Given the description of an element on the screen output the (x, y) to click on. 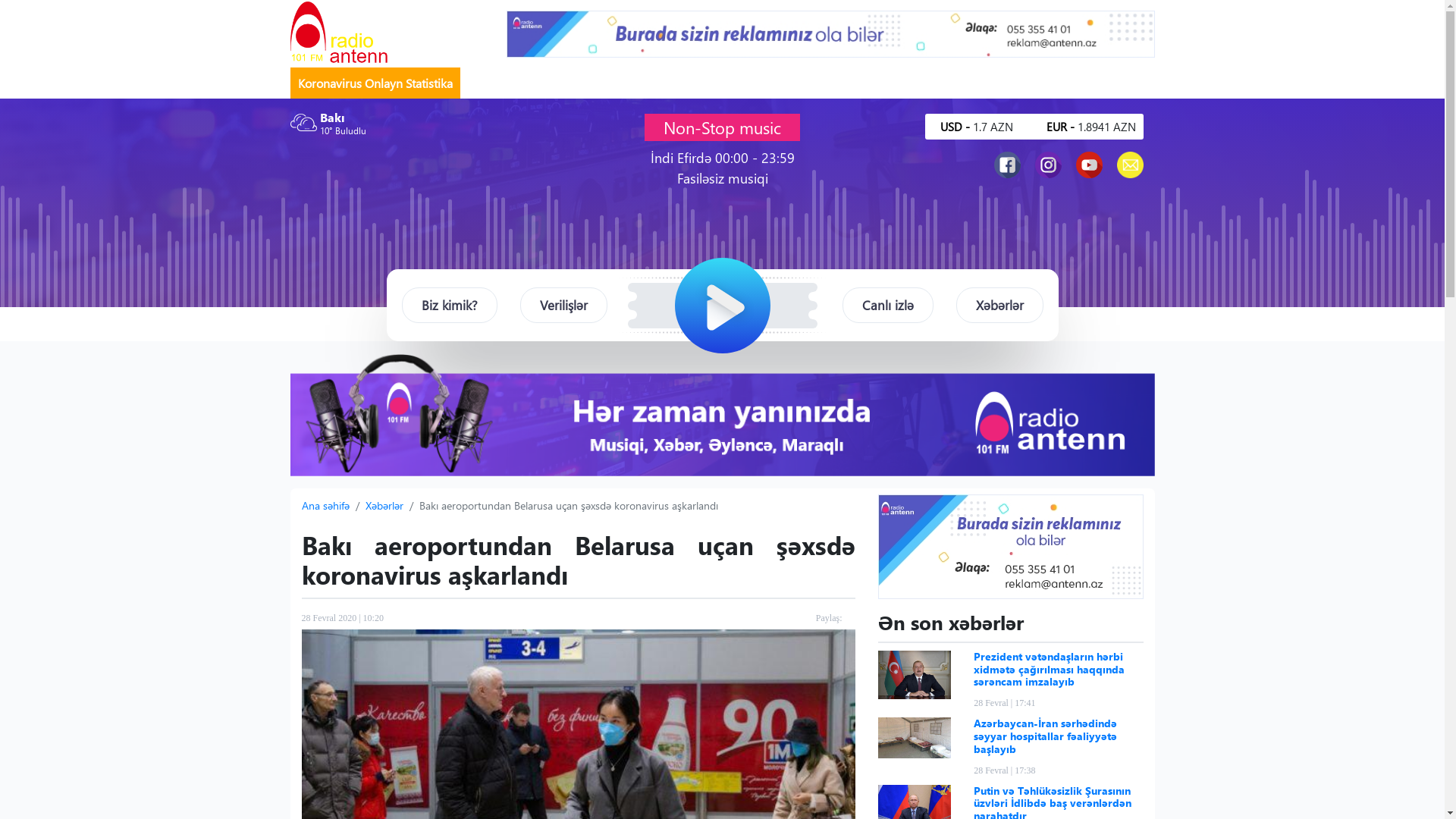
Biz kimik? Element type: text (449, 305)
Koronavirus Onlayn Statistika Element type: text (374, 82)
